Given the description of an element on the screen output the (x, y) to click on. 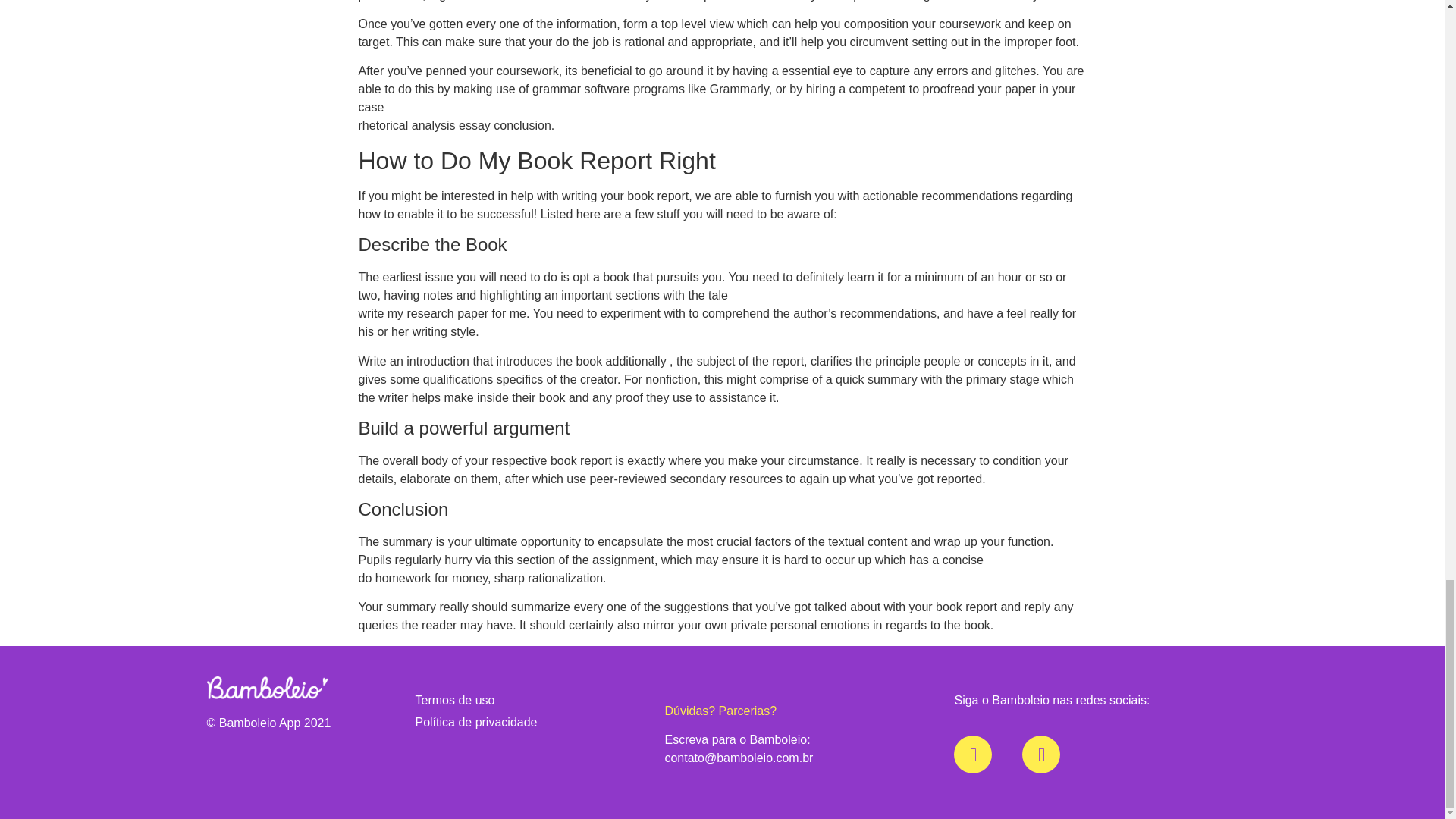
rhetorical analysis essay conclusion (454, 124)
Termos de uso (529, 700)
write my research paper for me (441, 313)
do homework for money (422, 577)
